Given the description of an element on the screen output the (x, y) to click on. 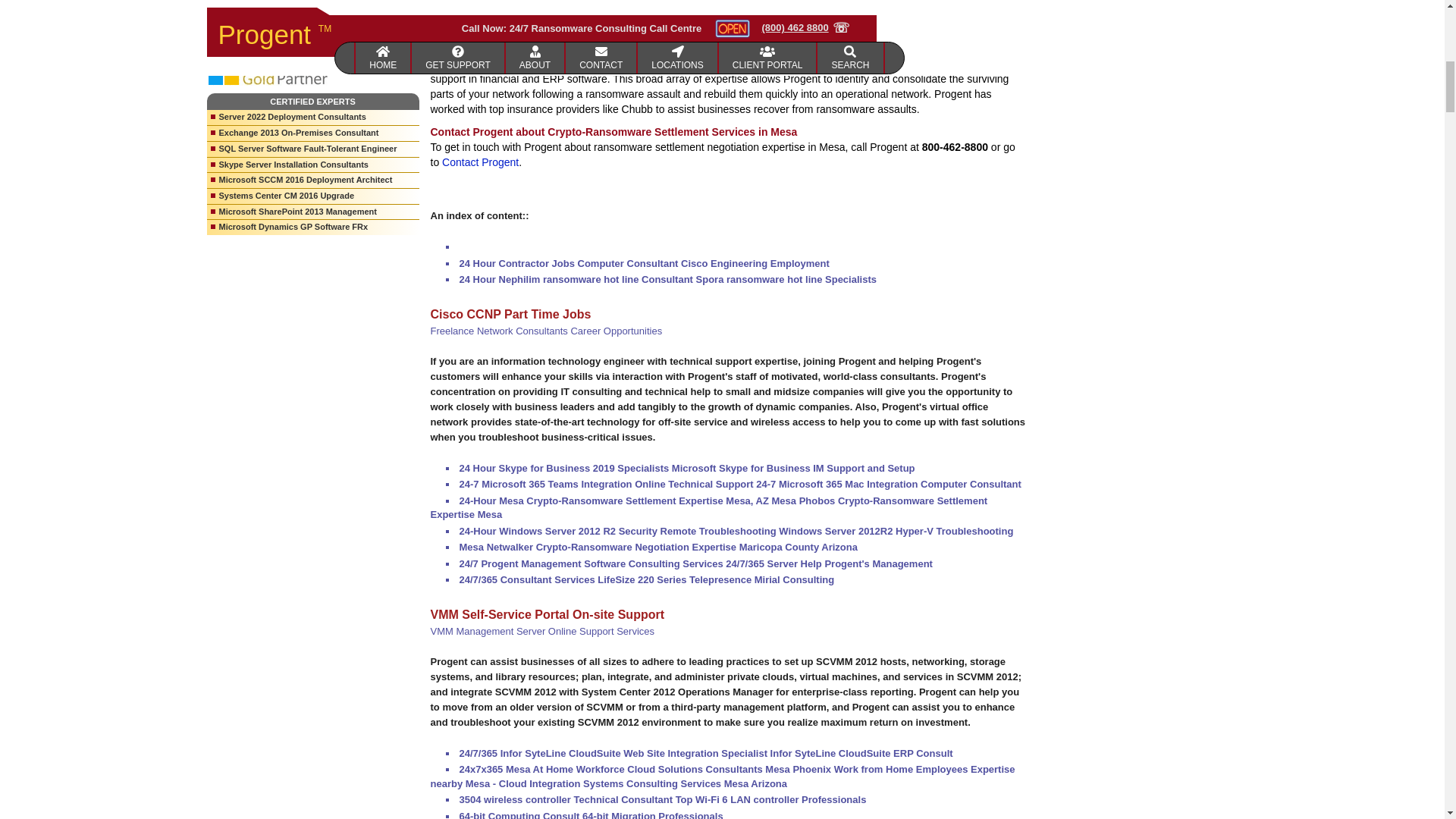
Progent's Certifications (826, 63)
Contact a Progent Expert (480, 162)
